Given the description of an element on the screen output the (x, y) to click on. 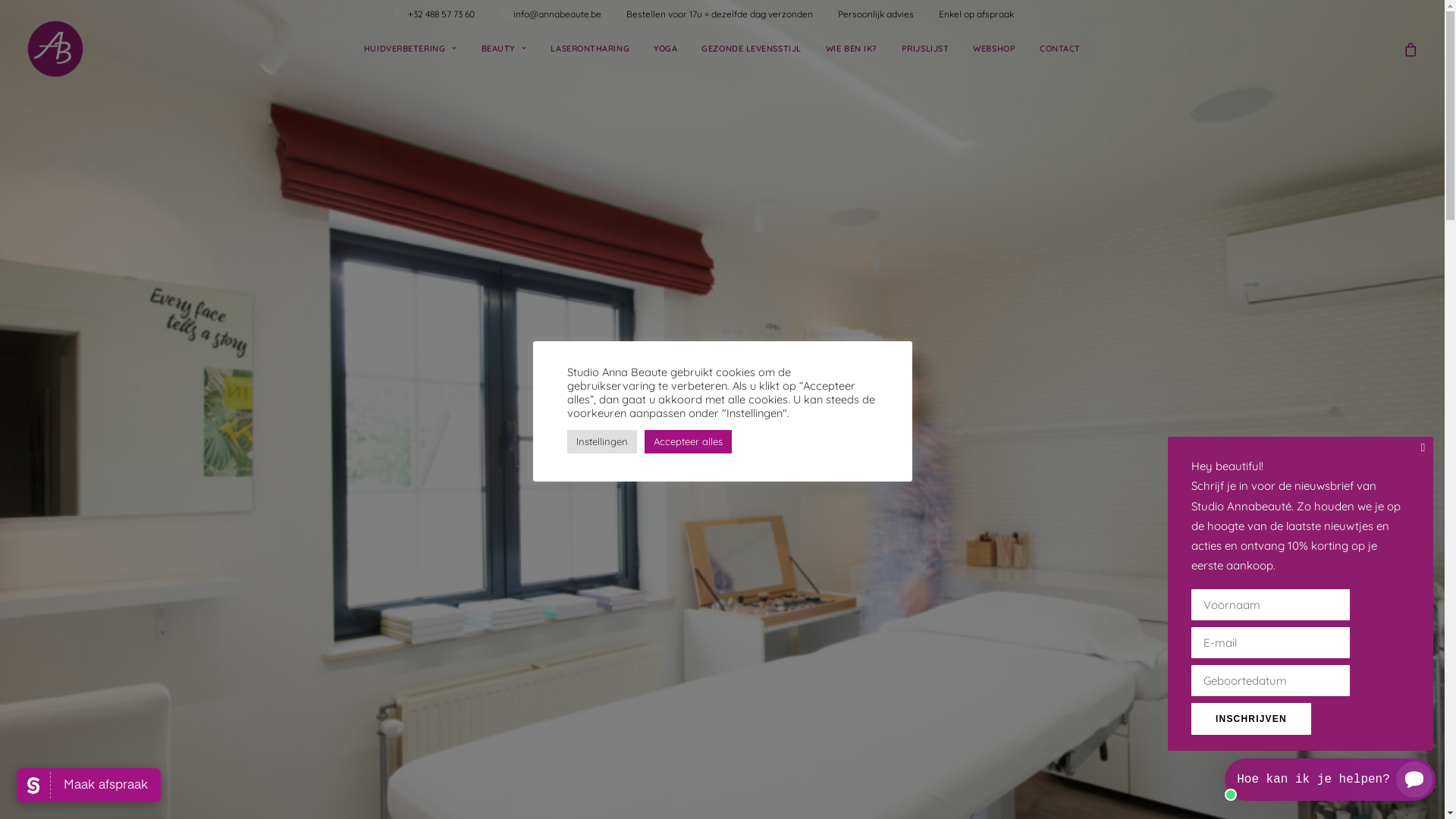
CONTACT Element type: text (1060, 48)
PRIJSLIJST Element type: text (925, 48)
WIE BEN IK? Element type: text (851, 48)
LASERONTHARING Element type: text (589, 48)
HUIDVERBETERING Element type: text (410, 48)
Accepteer alles Element type: text (687, 440)
GEZONDE LEVENSSTIJL Element type: text (750, 48)
+32 488 57 73 60 Element type: text (452, 13)
YOGA Element type: text (665, 48)
BEAUTY Element type: text (503, 48)
Smartsupp widget button Element type: hover (1329, 779)
cart Element type: hover (1410, 48)
Instellingen Element type: text (602, 440)
Inschrijven Element type: text (1251, 718)
info@annabeaute.be Element type: text (568, 13)
WEBSHOP Element type: text (994, 48)
